Given the description of an element on the screen output the (x, y) to click on. 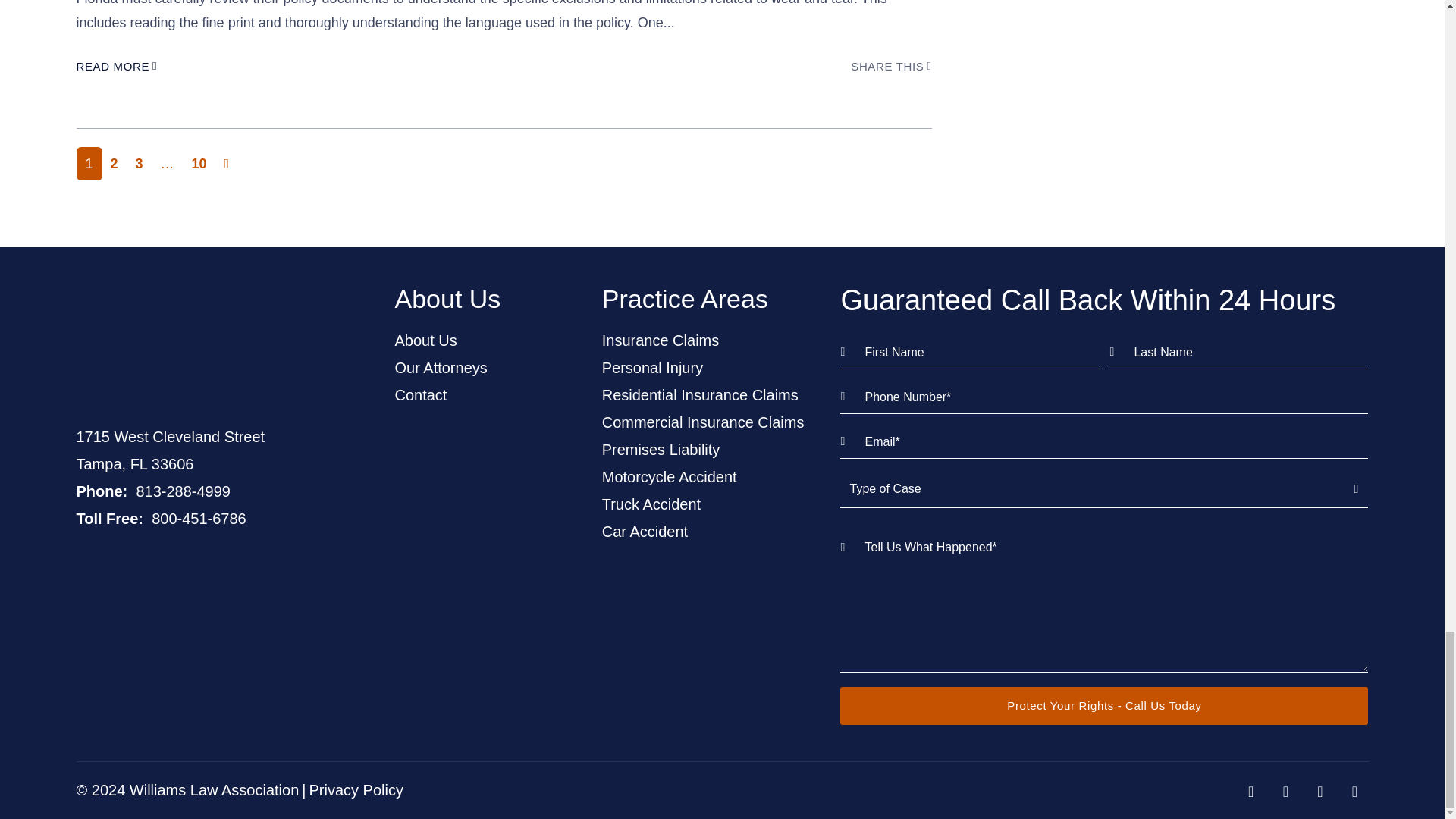
Protect Your Rights - Call Us Today (1104, 705)
